Given the description of an element on the screen output the (x, y) to click on. 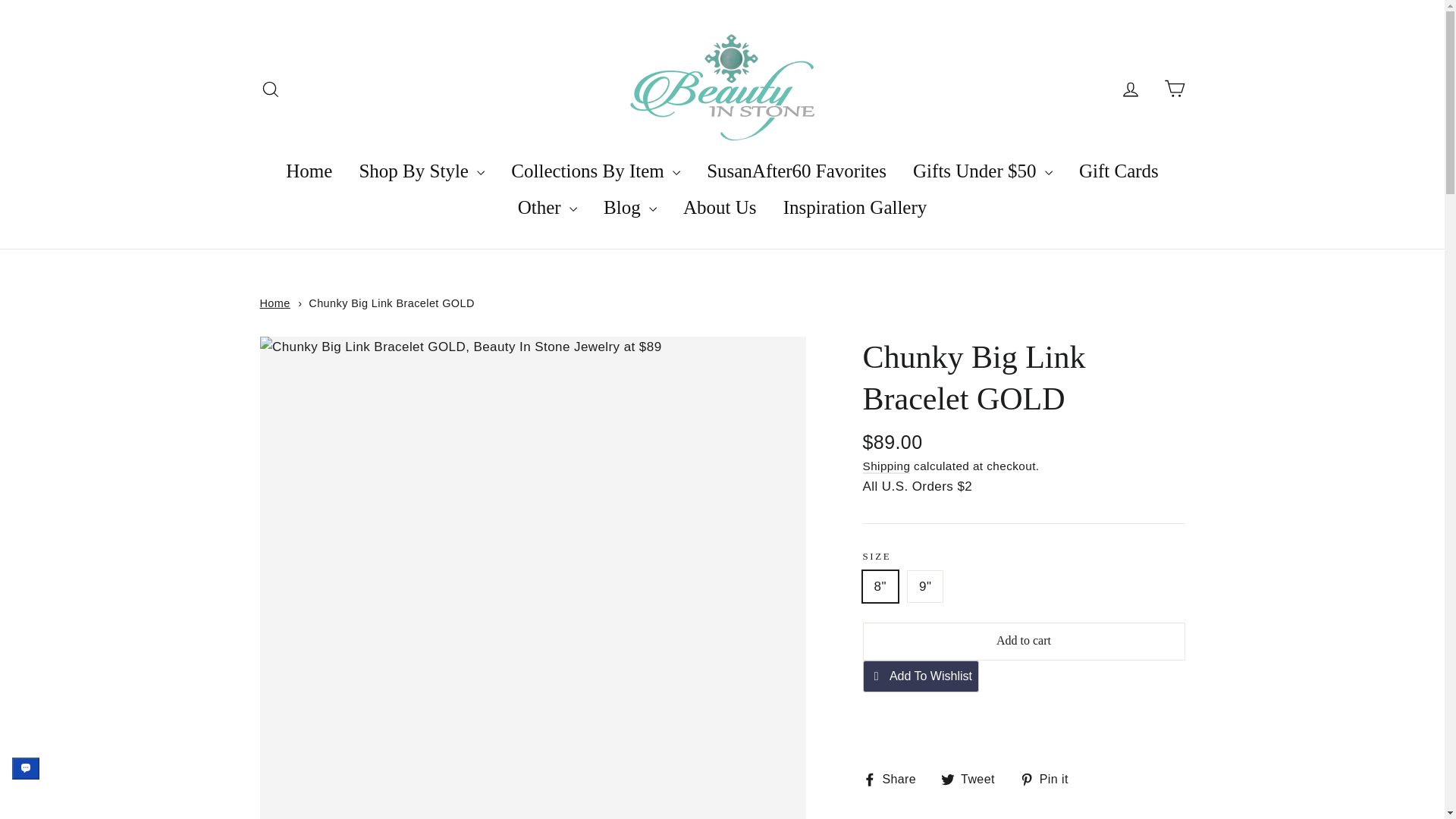
Home (274, 303)
Add to Wishlist (920, 676)
Pin on Pinterest (1050, 779)
Tweet on Twitter (973, 779)
Share on Facebook (895, 779)
